Given the description of an element on the screen output the (x, y) to click on. 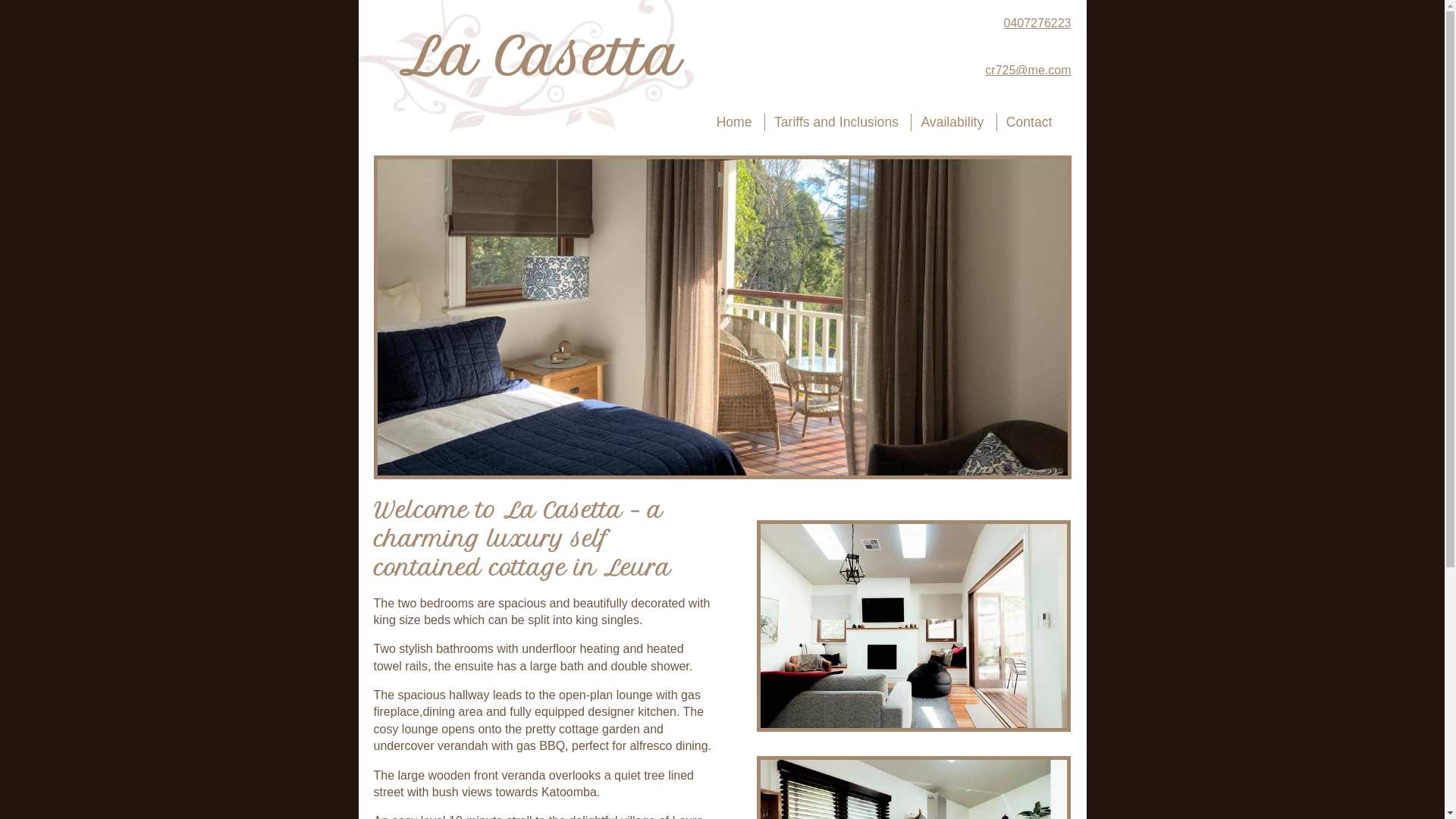
0407276223 Element type: text (969, 23)
La Casetta Element type: text (539, 56)
Contact Element type: text (1029, 122)
Availability Element type: text (951, 122)
Tariffs and Inclusions Element type: text (836, 122)
cr725@me.com Element type: text (969, 70)
Home Element type: text (734, 122)
